Given the description of an element on the screen output the (x, y) to click on. 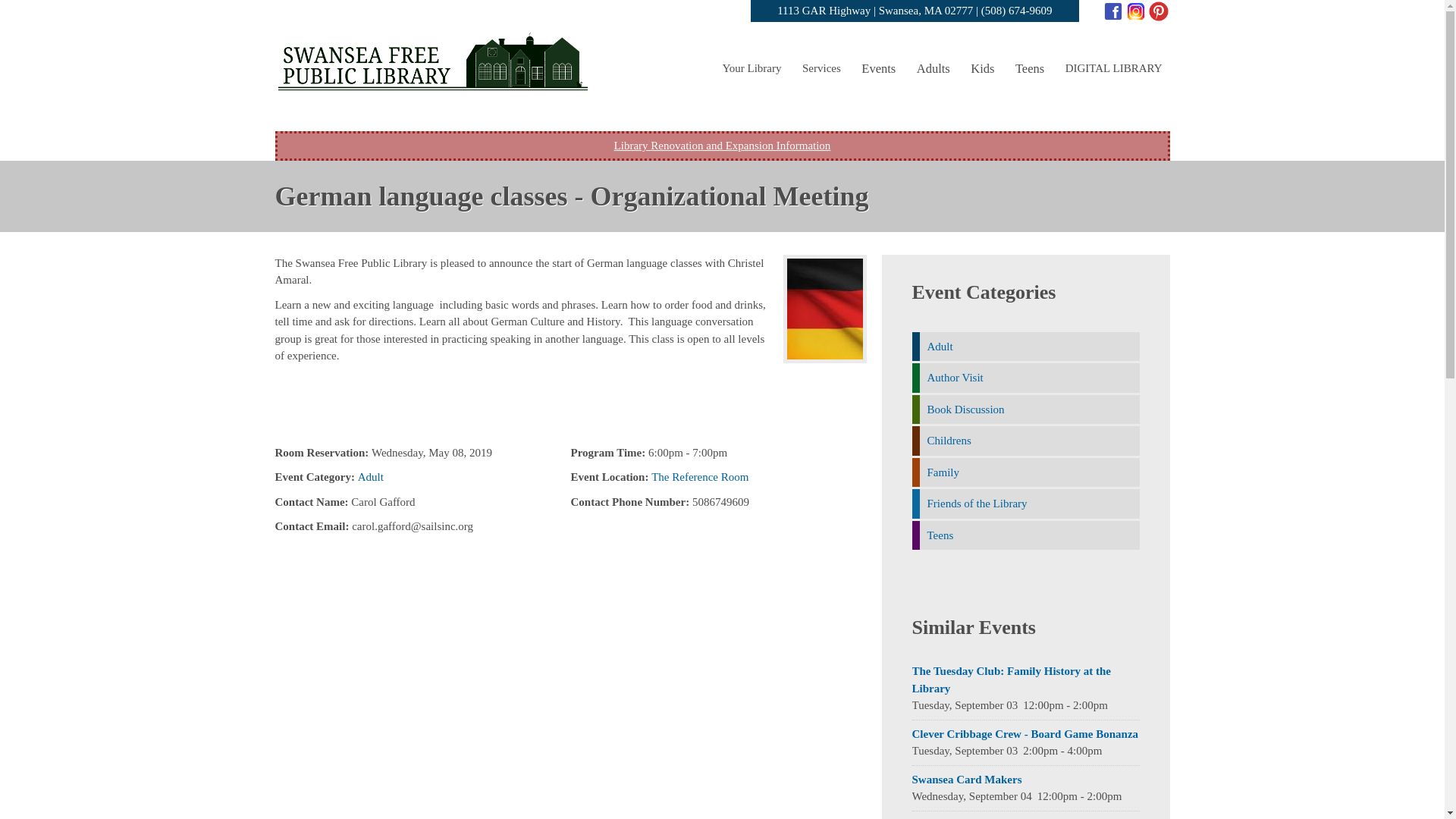
Skip to main content (686, 1)
Return to the Swansea Free Public Library home page (433, 84)
Events (878, 69)
